Given the description of an element on the screen output the (x, y) to click on. 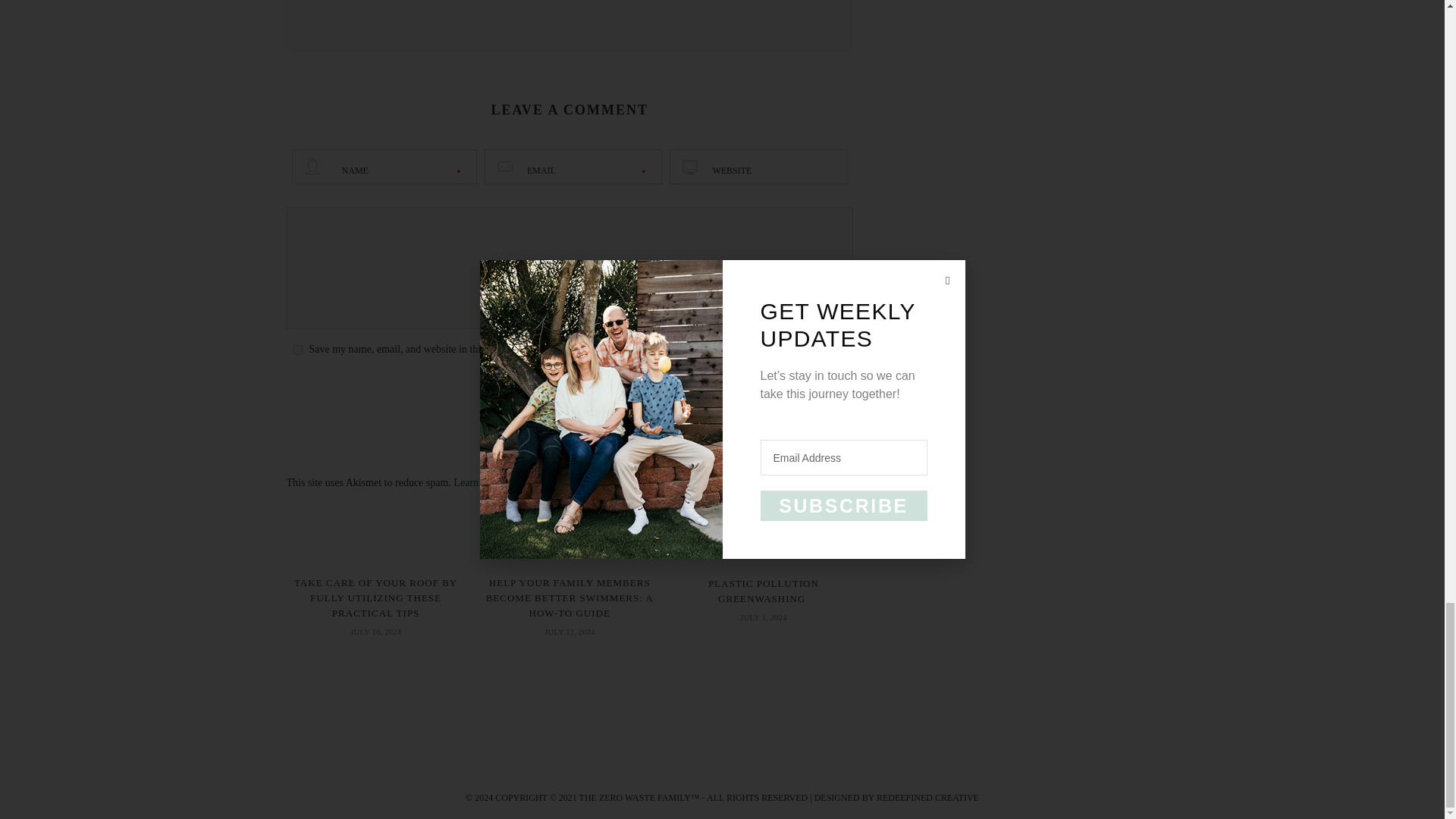
Submit Comment (569, 394)
yes (297, 349)
